Given the description of an element on the screen output the (x, y) to click on. 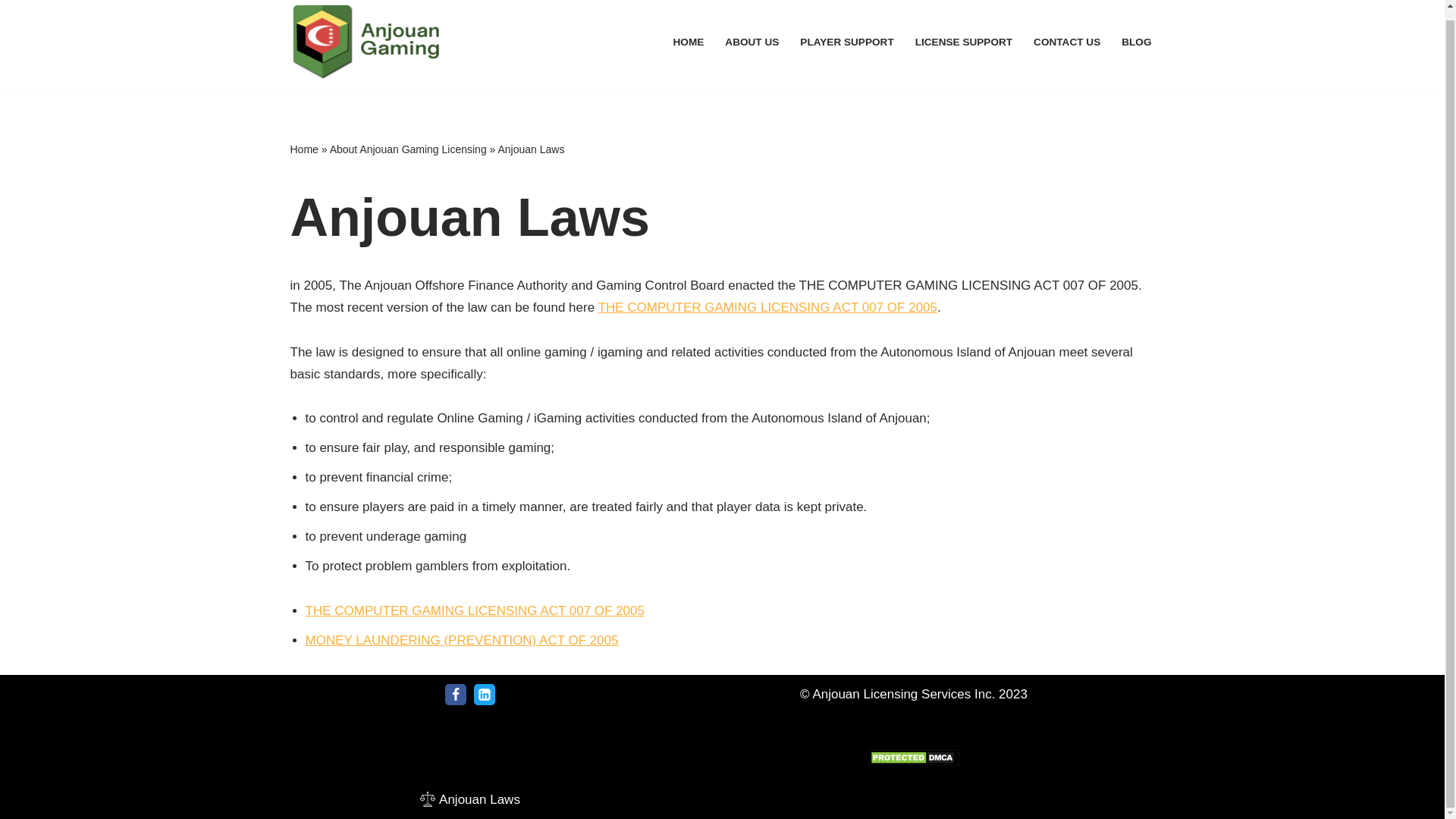
PLAYER SUPPORT (846, 41)
LinkedIn (484, 694)
ABOUT US (751, 41)
CONTACT US (1066, 41)
THE COMPUTER GAMING LICENSING ACT 007 OF 2005 (767, 307)
Anjouan Laws (469, 798)
About Anjouan Gaming Licensing (408, 149)
LICENSE SUPPORT (963, 41)
Facebook (455, 694)
Skip to content (11, 21)
HOME (688, 41)
DMCA.com Protection Status (913, 761)
BLOG (1136, 41)
Home (303, 149)
THE COMPUTER GAMING LICENSING ACT 007 OF 2005 (473, 610)
